Given the description of an element on the screen output the (x, y) to click on. 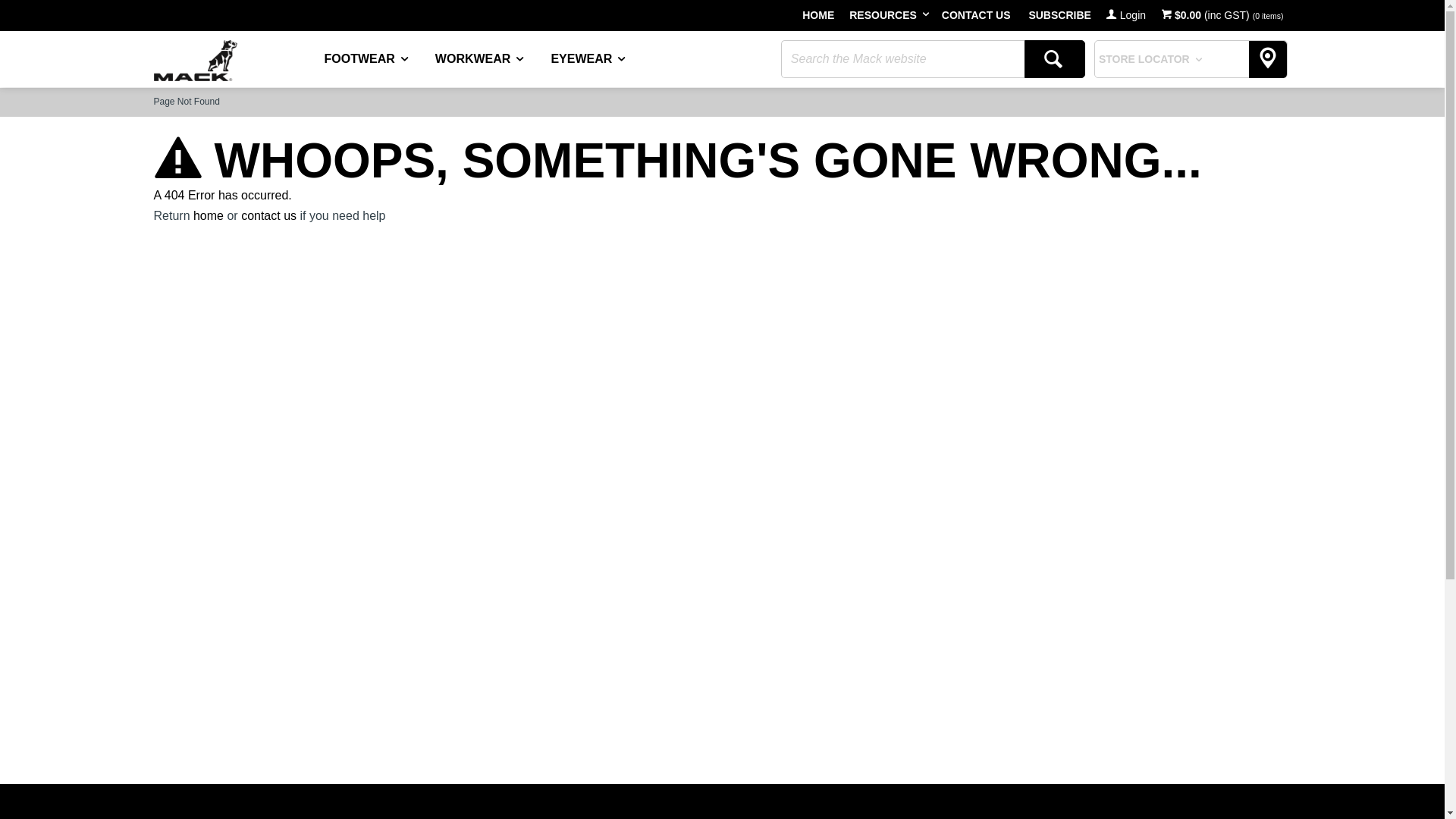
home Element type: text (208, 215)
HOME Element type: text (817, 14)
EYEWEAR Element type: text (601, 57)
WORKWEAR Element type: text (493, 57)
SUBSCRIBE Element type: text (1059, 14)
Login Element type: text (1125, 15)
CONTACT US Element type: text (976, 14)
contact us Element type: text (268, 215)
$0.00 (inc GST) (0 items) Element type: text (1222, 15)
FOOTWEAR Element type: text (379, 57)
